Given the description of an element on the screen output the (x, y) to click on. 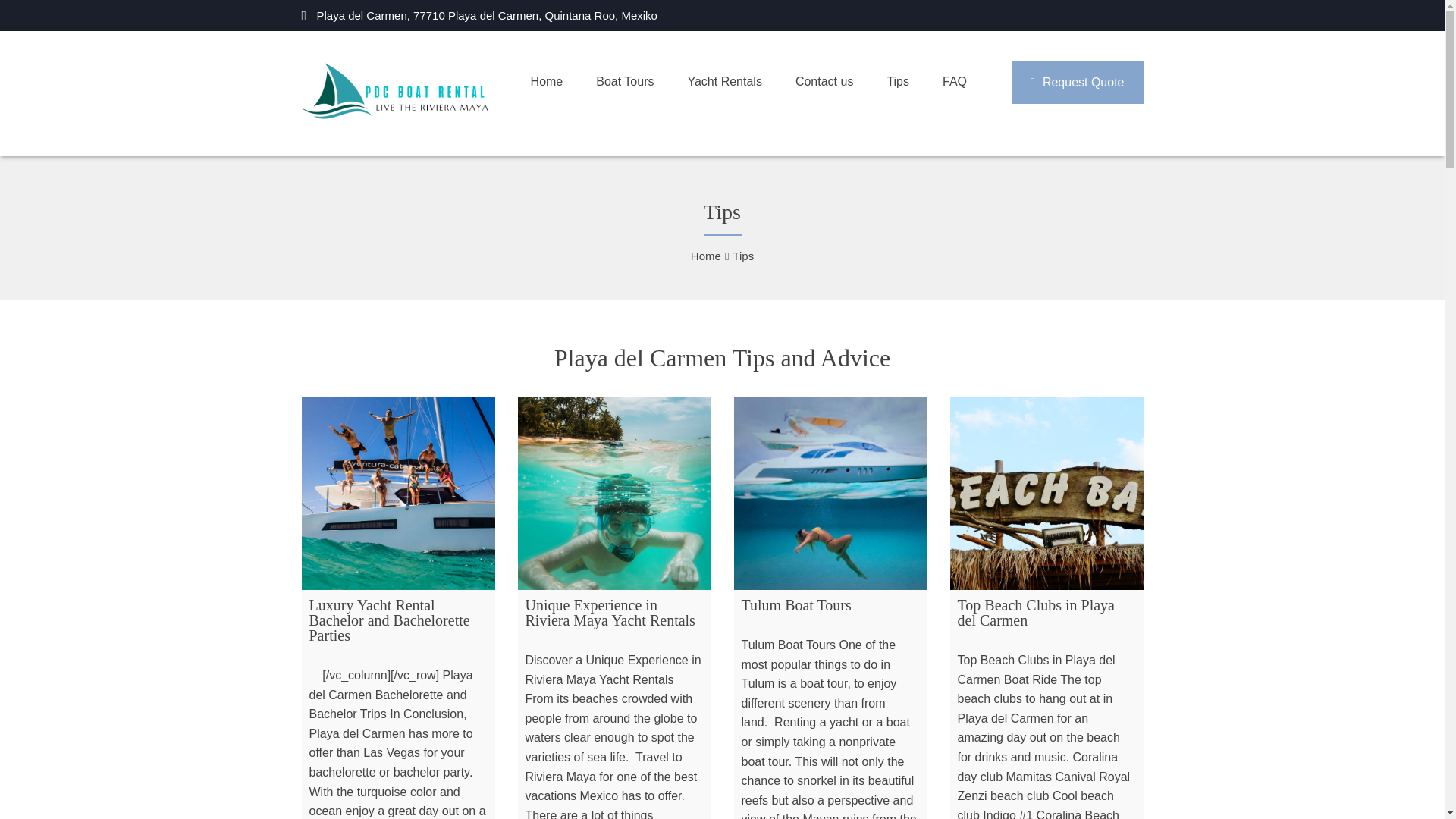
Contact us (840, 81)
Unique Experience in Riviera Maya Yacht Rentals (613, 492)
Tulum Boat Tours (830, 492)
Home (705, 255)
Top Beach Clubs in Playa del Carmen (1045, 492)
Yacht Rentals (740, 81)
FAQ (971, 81)
Request Quote (1076, 82)
Boat Tours (641, 81)
Tips (914, 81)
